Given the description of an element on the screen output the (x, y) to click on. 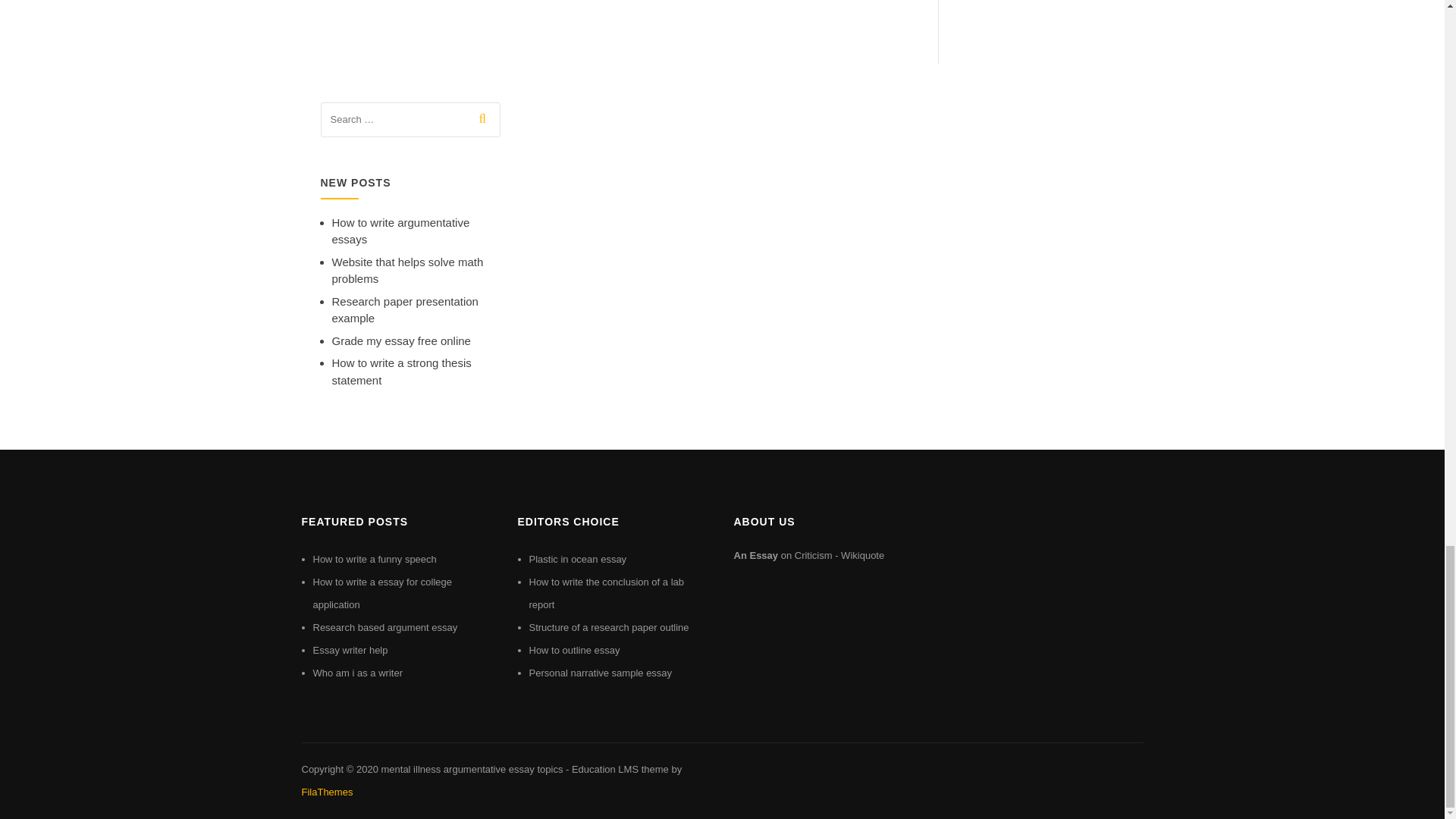
How to write a strong thesis statement (401, 371)
How to write the conclusion of a lab report (606, 593)
Structure of a research paper outline (608, 627)
Essay writer help (350, 650)
mental illness argumentative essay topics (471, 768)
Plastic in ocean essay (578, 559)
Who am i as a writer (357, 672)
Website that helps solve math problems (407, 270)
Research based argument essay (385, 627)
How to outline essay (574, 650)
Grade my essay free online (400, 340)
Personal narrative sample essay (600, 672)
How to write argumentative essays (400, 231)
mental illness argumentative essay topics (471, 768)
How to write a funny speech (374, 559)
